Given the description of an element on the screen output the (x, y) to click on. 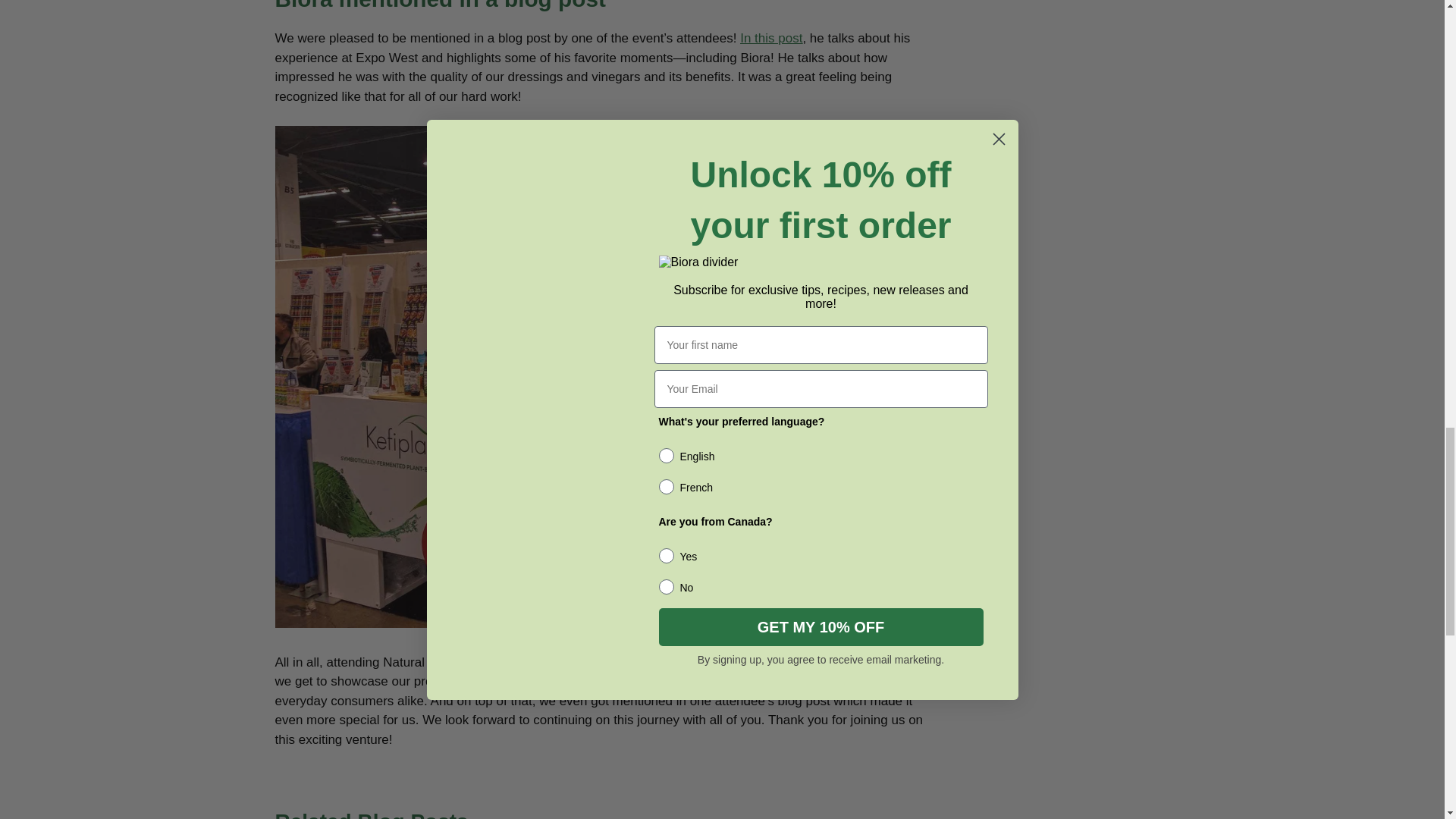
Regenetarianism blog post about Biora (770, 38)
